Given the description of an element on the screen output the (x, y) to click on. 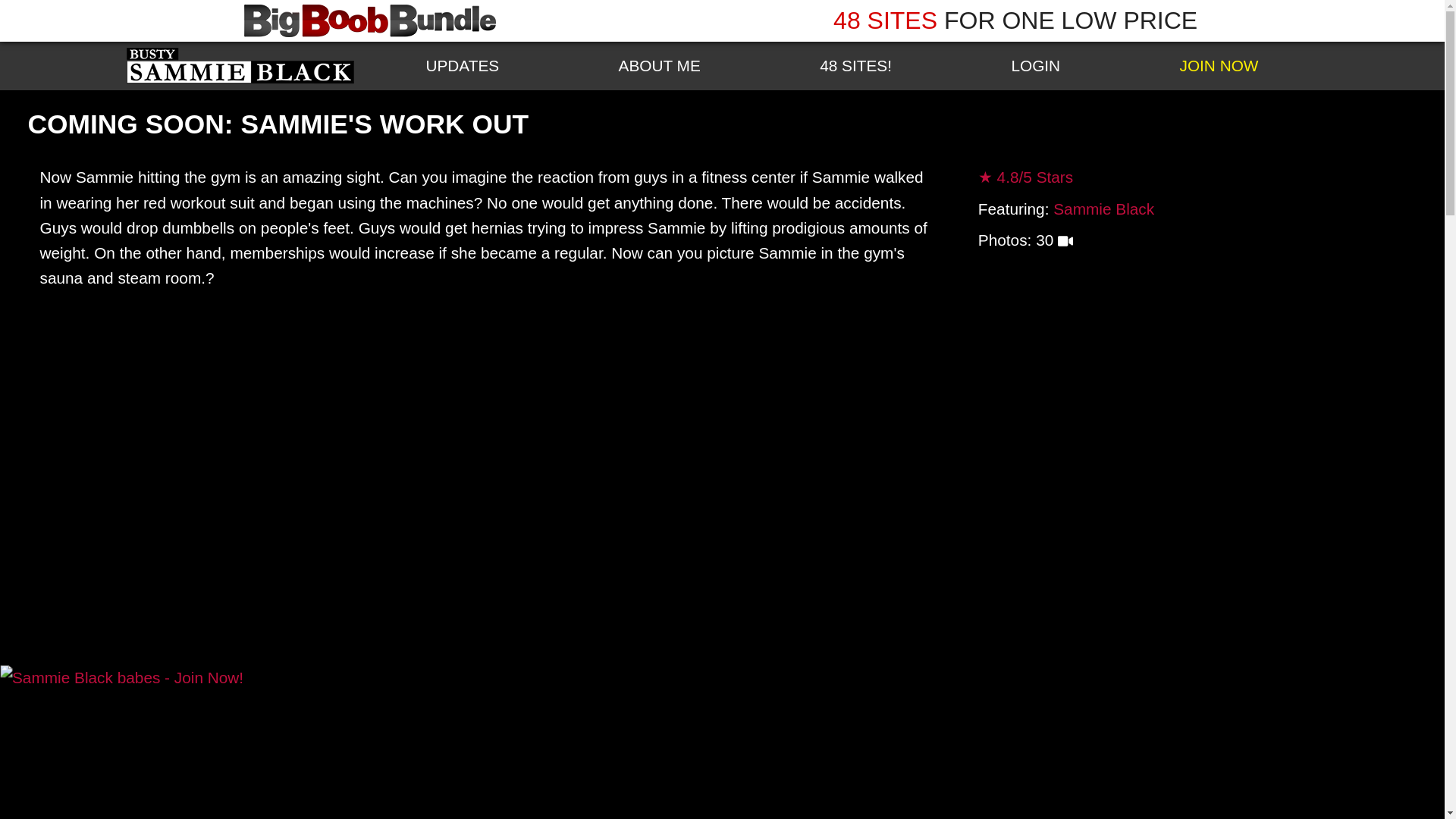
LOGIN (1035, 65)
Busty Sammie Black (239, 65)
UPDATES (462, 65)
48 SITES! (855, 65)
ABOUT ME (659, 65)
Sammie Black (1103, 208)
JOIN NOW (1218, 65)
